Given the description of an element on the screen output the (x, y) to click on. 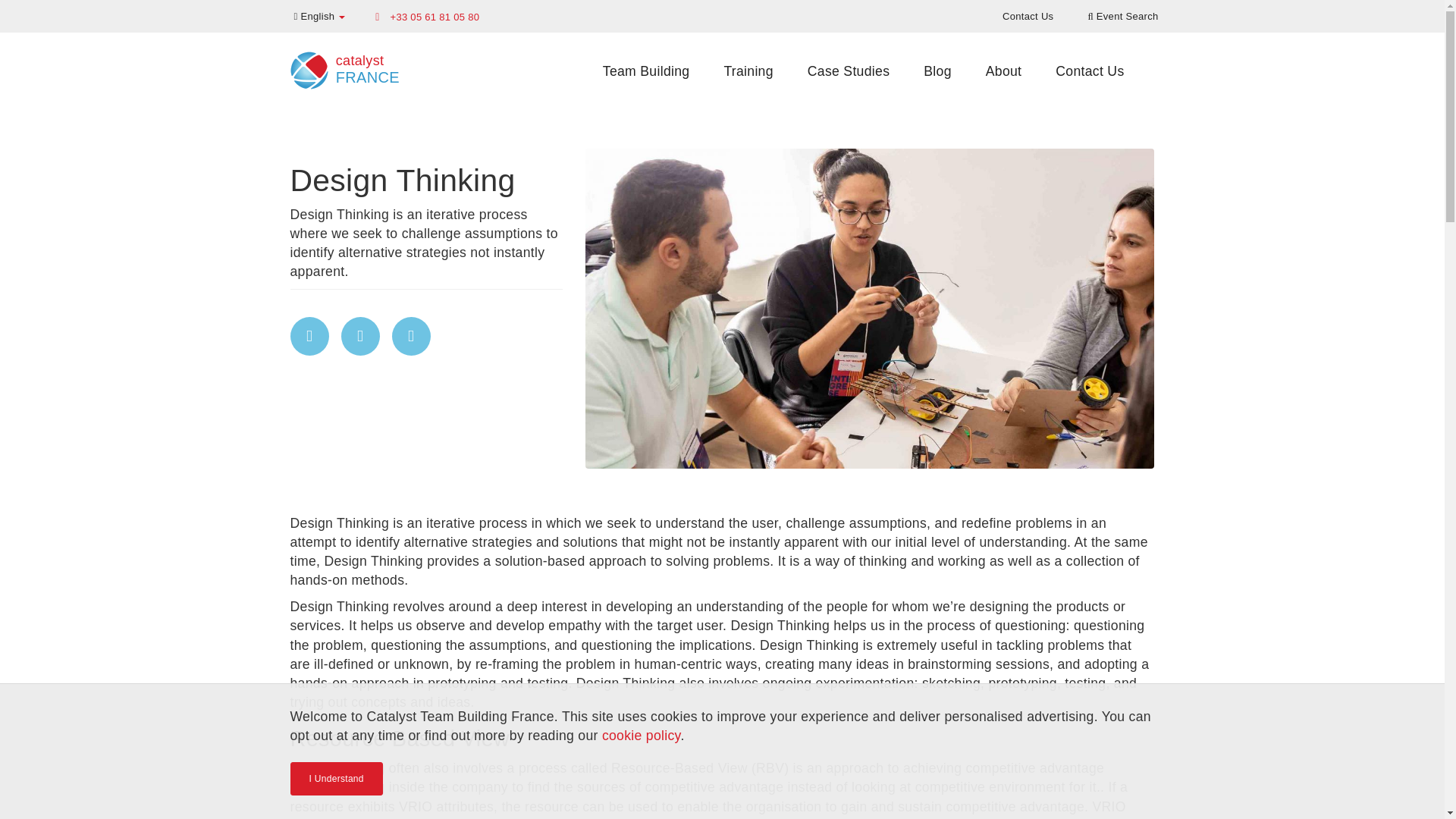
Training (747, 71)
Event Search (1122, 15)
Case Studies (848, 71)
English (320, 15)
Blog (937, 71)
Contact Us (1027, 15)
Contact Us (1089, 71)
About (1003, 71)
Team Building (646, 71)
